Given the description of an element on the screen output the (x, y) to click on. 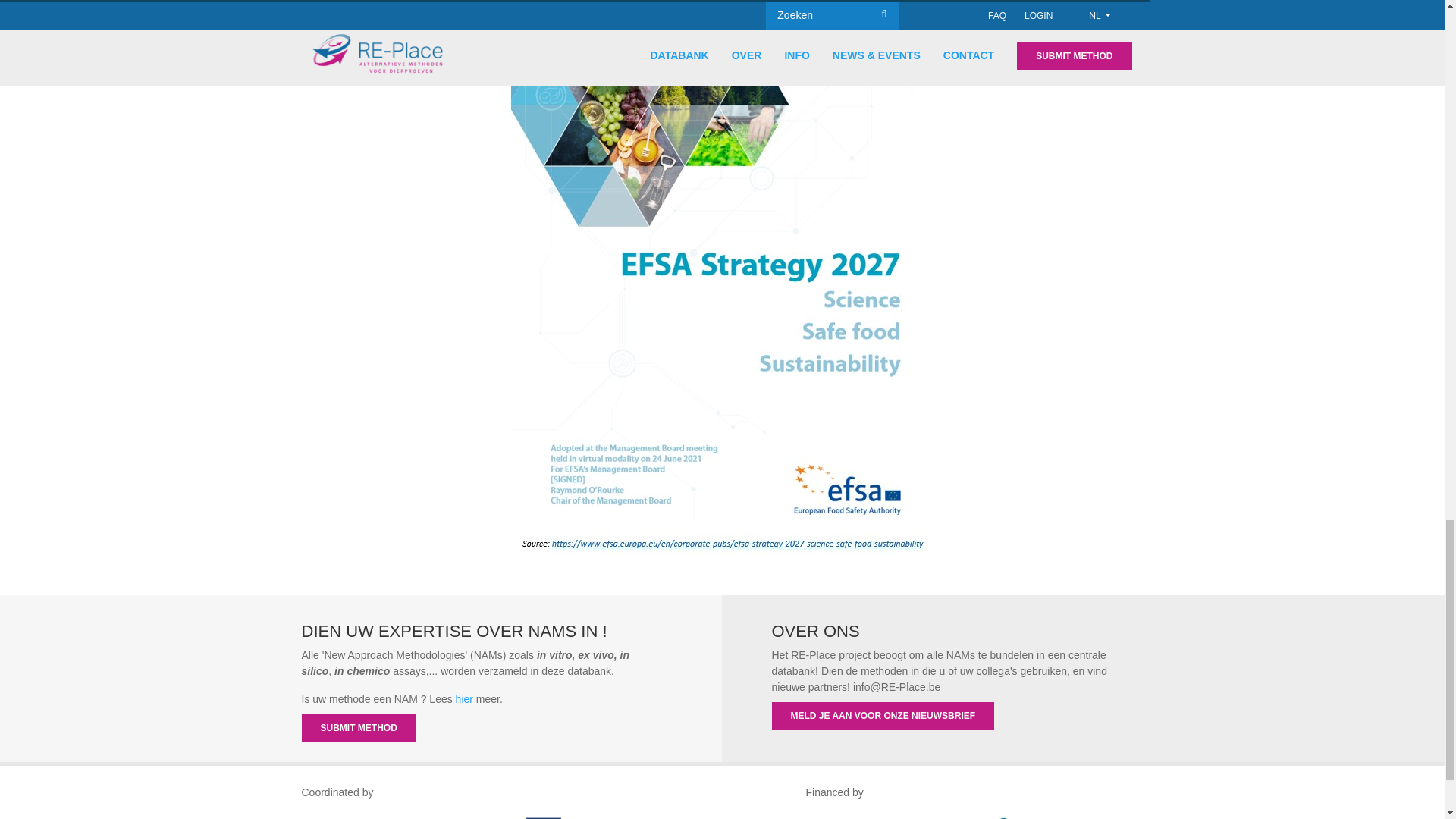
MELD JE AAN VOOR ONZE NIEUWSBRIEF (882, 715)
SUBMIT METHOD (358, 728)
hier (464, 698)
